Given the description of an element on the screen output the (x, y) to click on. 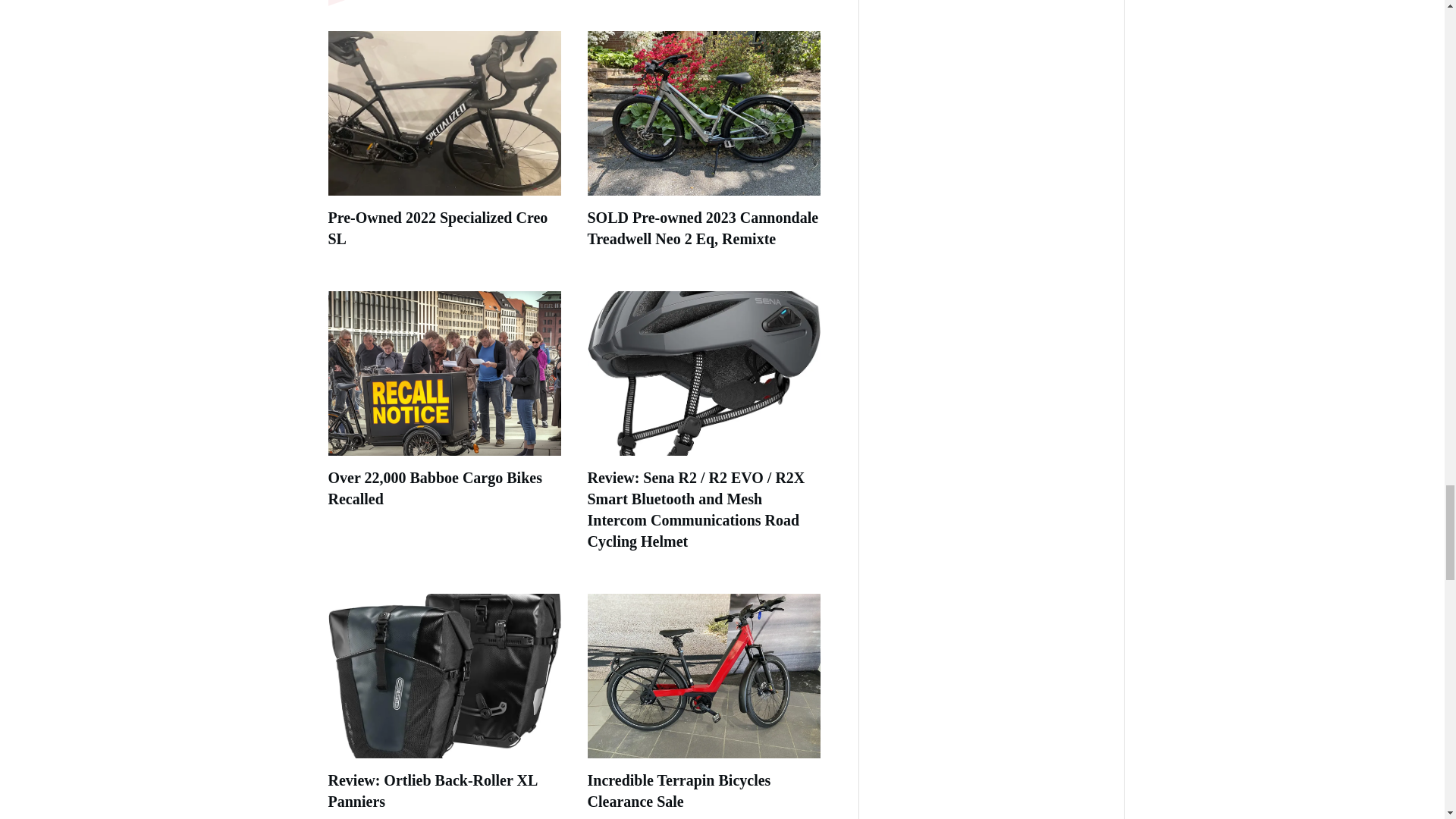
Pre-Owned 2022 Specialized Creo SL (437, 228)
Pre-Owned 2022 Specialized Creo SL (437, 228)
Over 22,000 Babboe Cargo Bikes Recalled (434, 487)
SOLD Pre-owned 2023 Cannondale Treadwell Neo 2 Eq, Remixte (702, 228)
Incredible Terrapin Bicycles Clearance Sale (678, 790)
Over 22,000 Babboe Cargo Bikes Recalled (434, 487)
SOLD Pre-owned 2023 Cannondale Treadwell Neo 2 Eq, Remixte (702, 228)
Review: Ortlieb Back-Roller XL Panniers (432, 790)
